Given the description of an element on the screen output the (x, y) to click on. 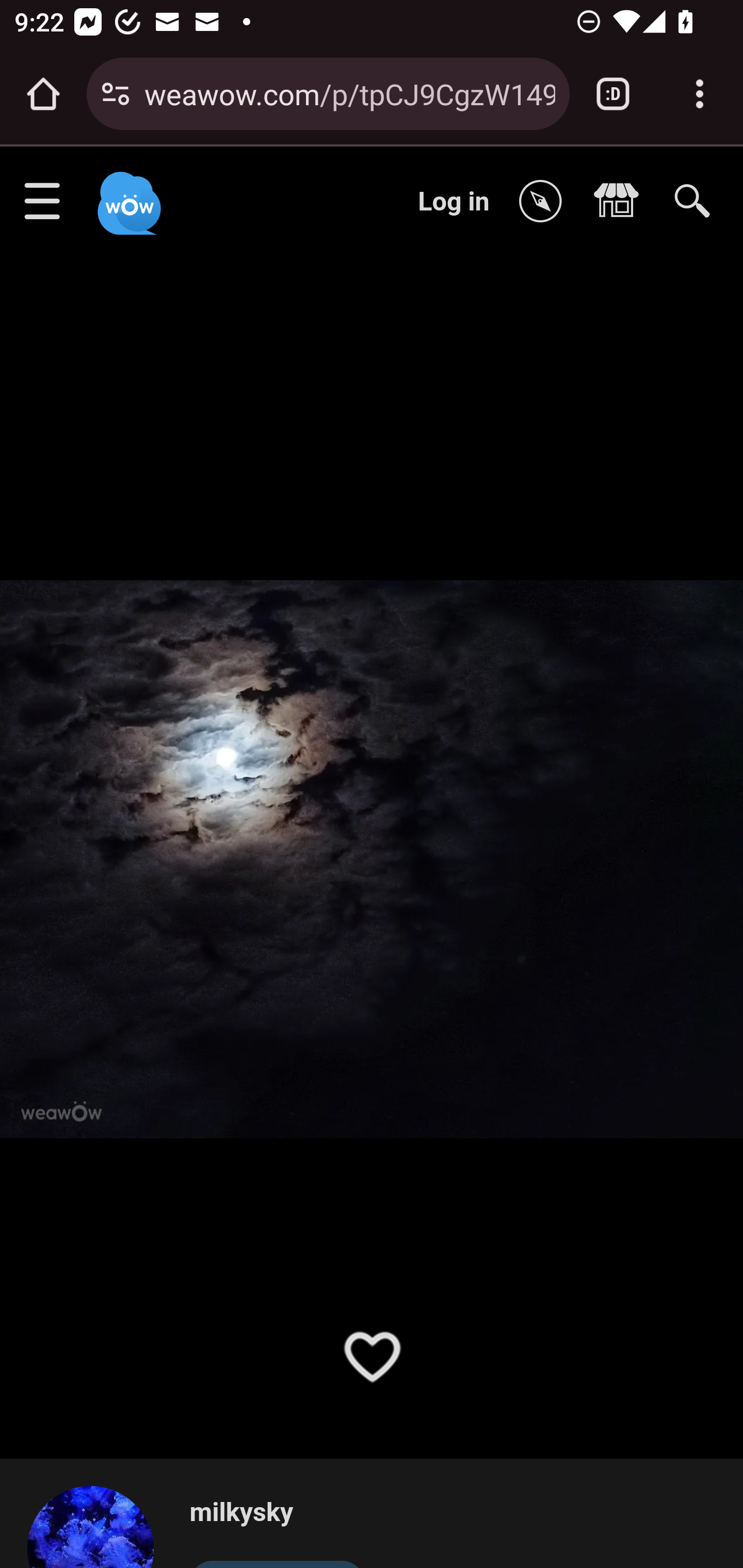
Open the home page (43, 93)
Connection is secure (115, 93)
Switch or close tabs (612, 93)
Customize and control Google Chrome (699, 93)
weawow.com/p/tpCJ9CgzW1493655 (349, 92)
Weawow (127, 194)
 (545, 201)
 (621, 201)
Log in (453, 201)
milkysky (99, 1525)
milkysky (275, 1513)
